Given the description of an element on the screen output the (x, y) to click on. 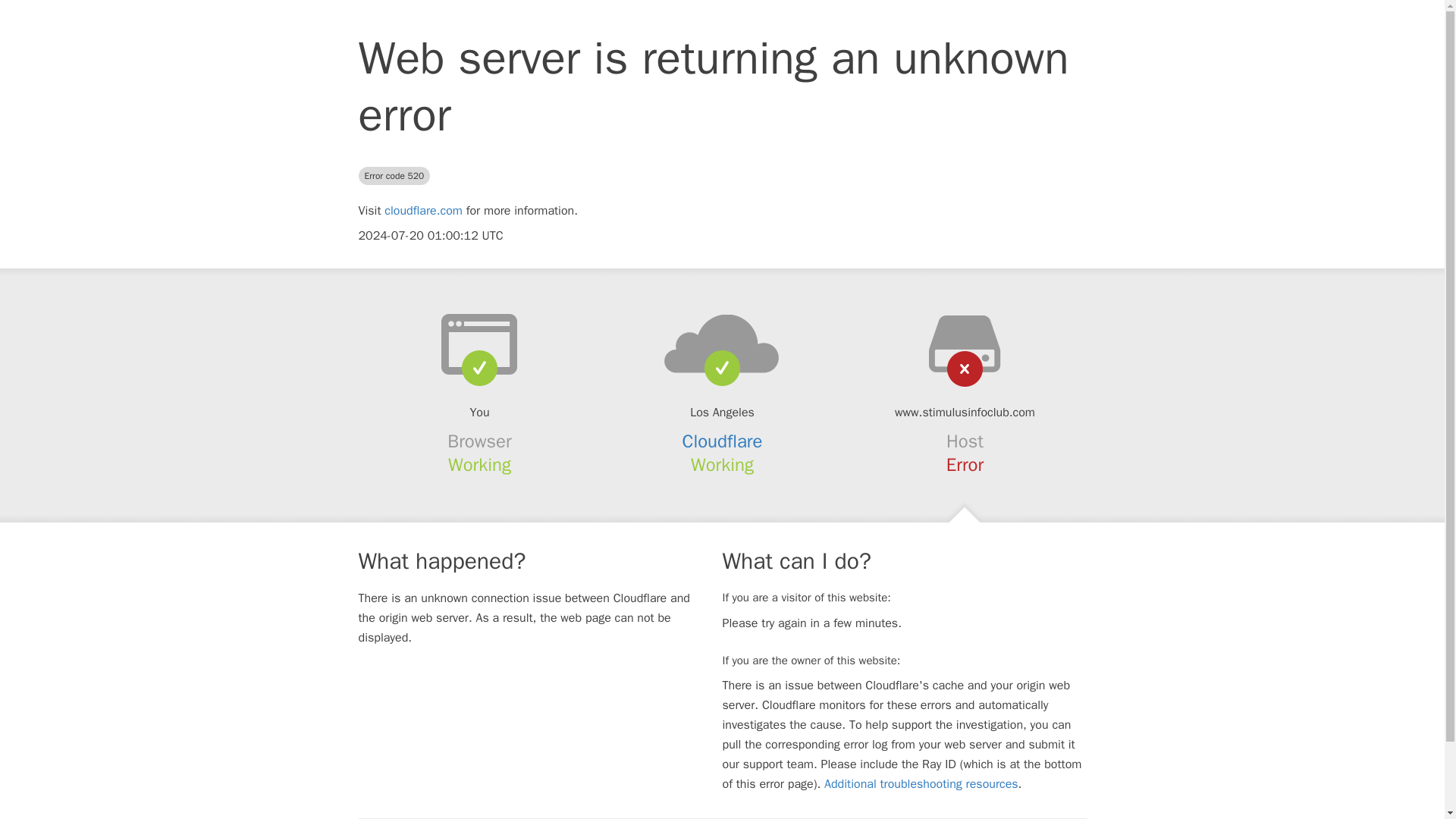
Additional troubleshooting resources (920, 783)
Cloudflare (722, 440)
cloudflare.com (423, 210)
